Given the description of an element on the screen output the (x, y) to click on. 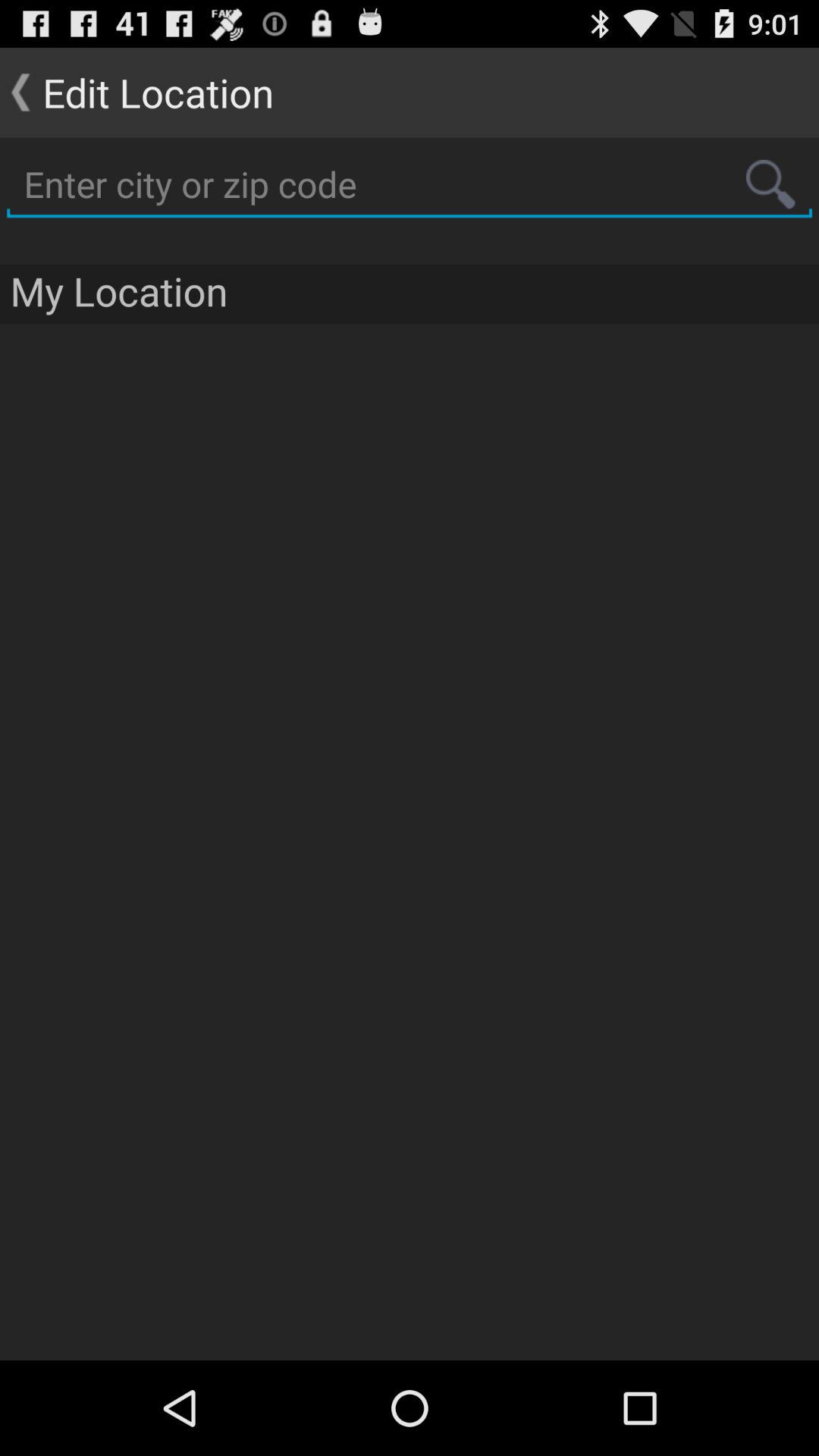
enter city or zip code (409, 184)
